Given the description of an element on the screen output the (x, y) to click on. 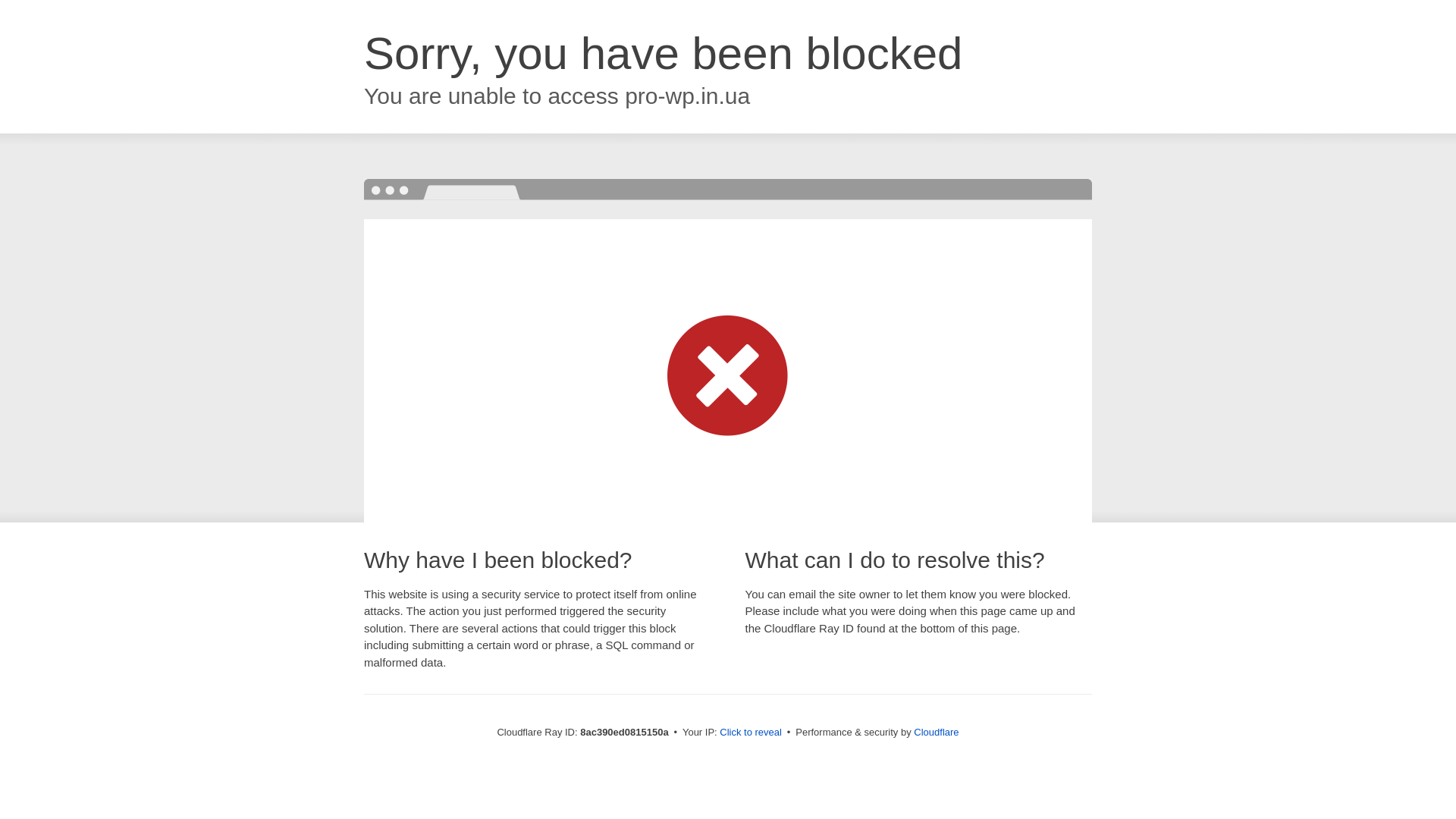
Cloudflare (936, 731)
Click to reveal (750, 732)
